Given the description of an element on the screen output the (x, y) to click on. 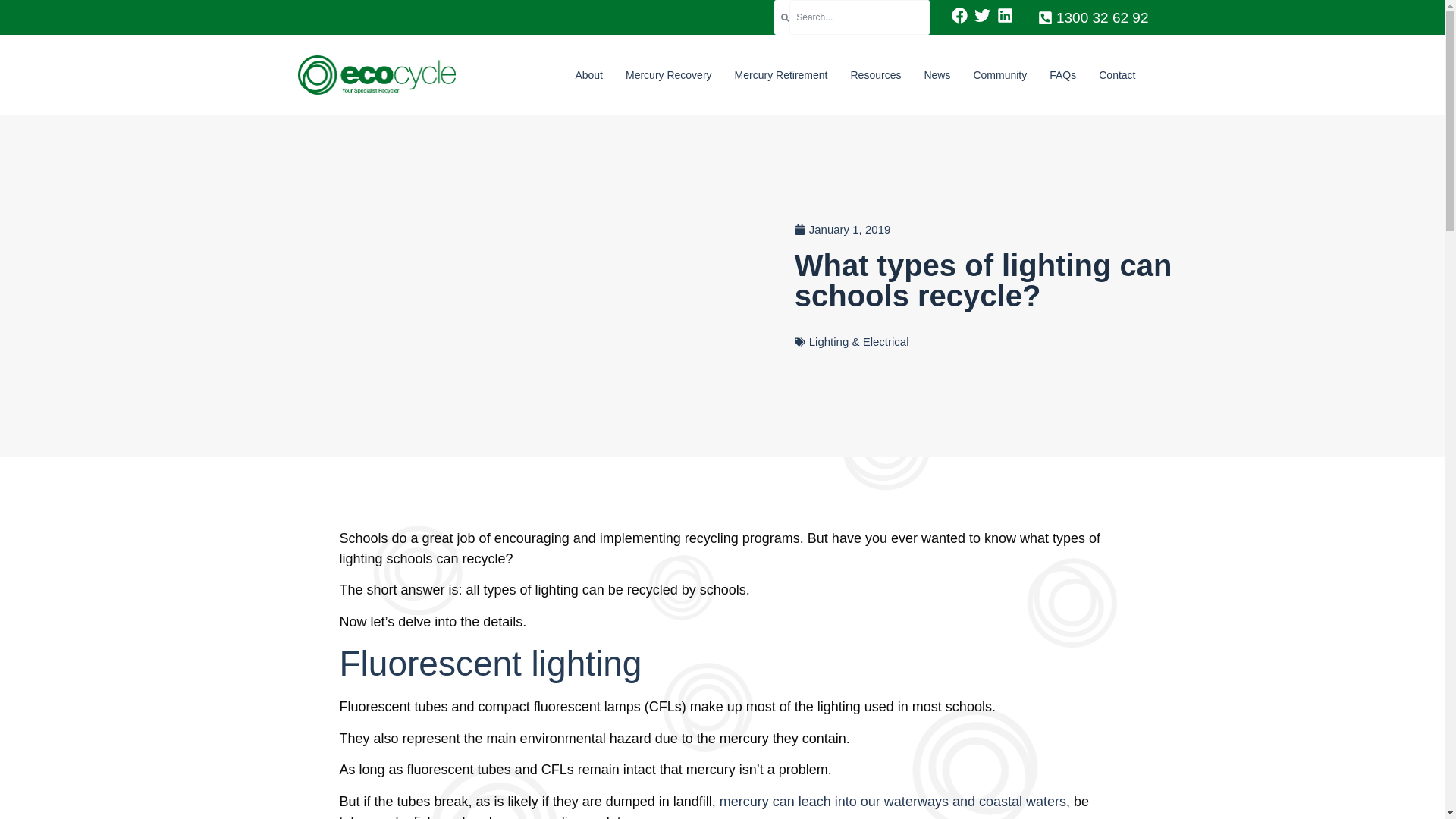
Mercury Recovery (668, 74)
FAQs (1062, 74)
Contact (1117, 74)
News (936, 74)
Community (999, 74)
Resources (875, 74)
Mercury Retirement (781, 74)
About (588, 74)
1300 32 62 92 (1093, 18)
